Given the description of an element on the screen output the (x, y) to click on. 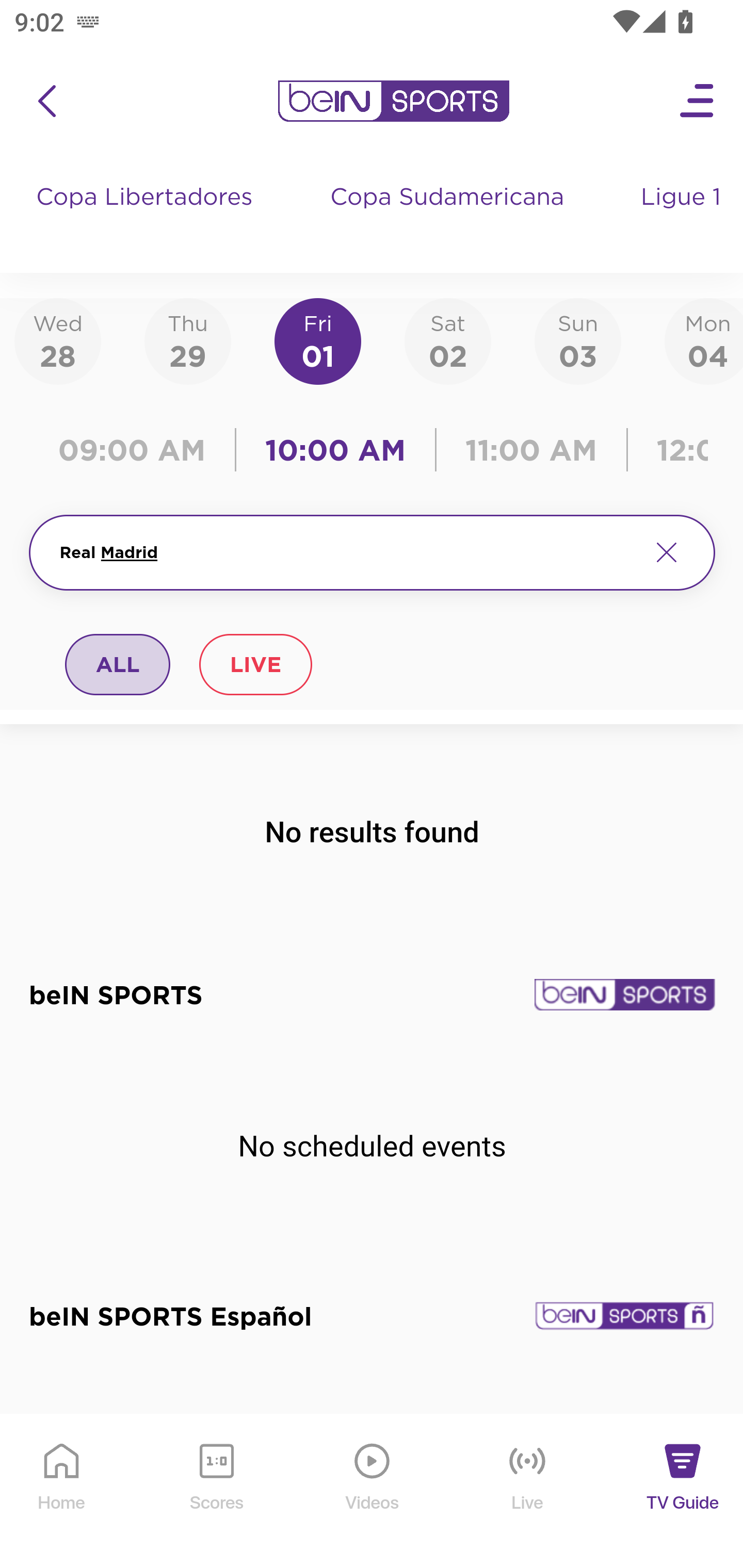
en-us?platform=mobile_android bein logo (392, 101)
icon back (46, 101)
Open Menu Icon (697, 101)
Copa Libertadores (146, 216)
Copa Sudamericana (448, 216)
Ligue 1 (682, 216)
Wed28 (58, 340)
Thu29 (187, 340)
Fri01 (318, 340)
Sat02 (447, 340)
Sun03 (578, 340)
Mon04 (703, 340)
09:00 AM (136, 449)
10:00 AM (335, 449)
11:00 AM (531, 449)
Real Madrid (346, 552)
ALL (118, 663)
LIVE (255, 663)
Home Home Icon Home (61, 1491)
Scores Scores Icon Scores (216, 1491)
Videos Videos Icon Videos (372, 1491)
TV Guide TV Guide Icon TV Guide (682, 1491)
